Given the description of an element on the screen output the (x, y) to click on. 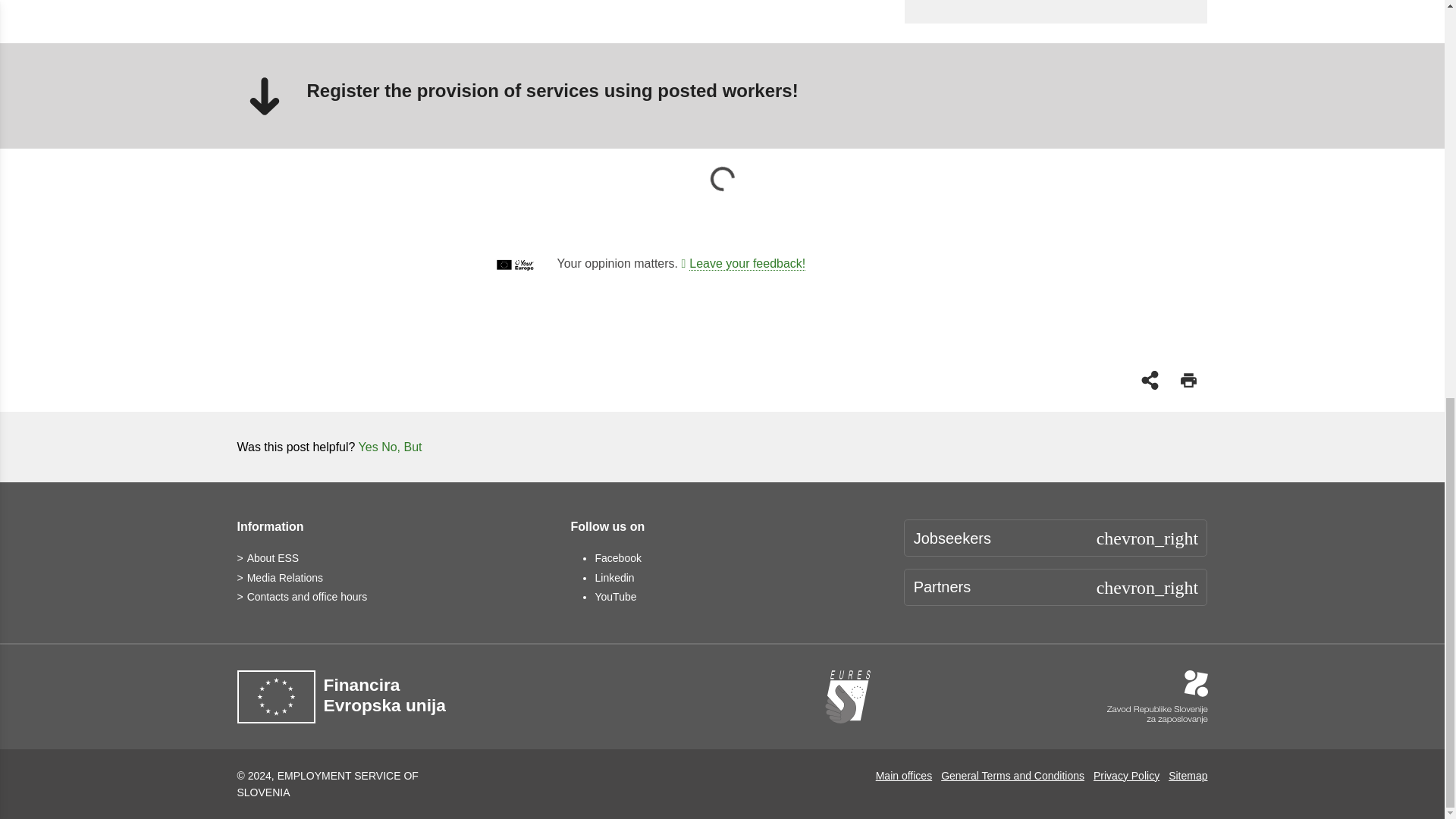
Link to Media Relations (279, 577)
Print page (1188, 379)
Your Europe Single Digital Gateway (743, 263)
Loading... (722, 178)
Link to About ESS (266, 558)
Leave your feedback! (743, 263)
